Given the description of an element on the screen output the (x, y) to click on. 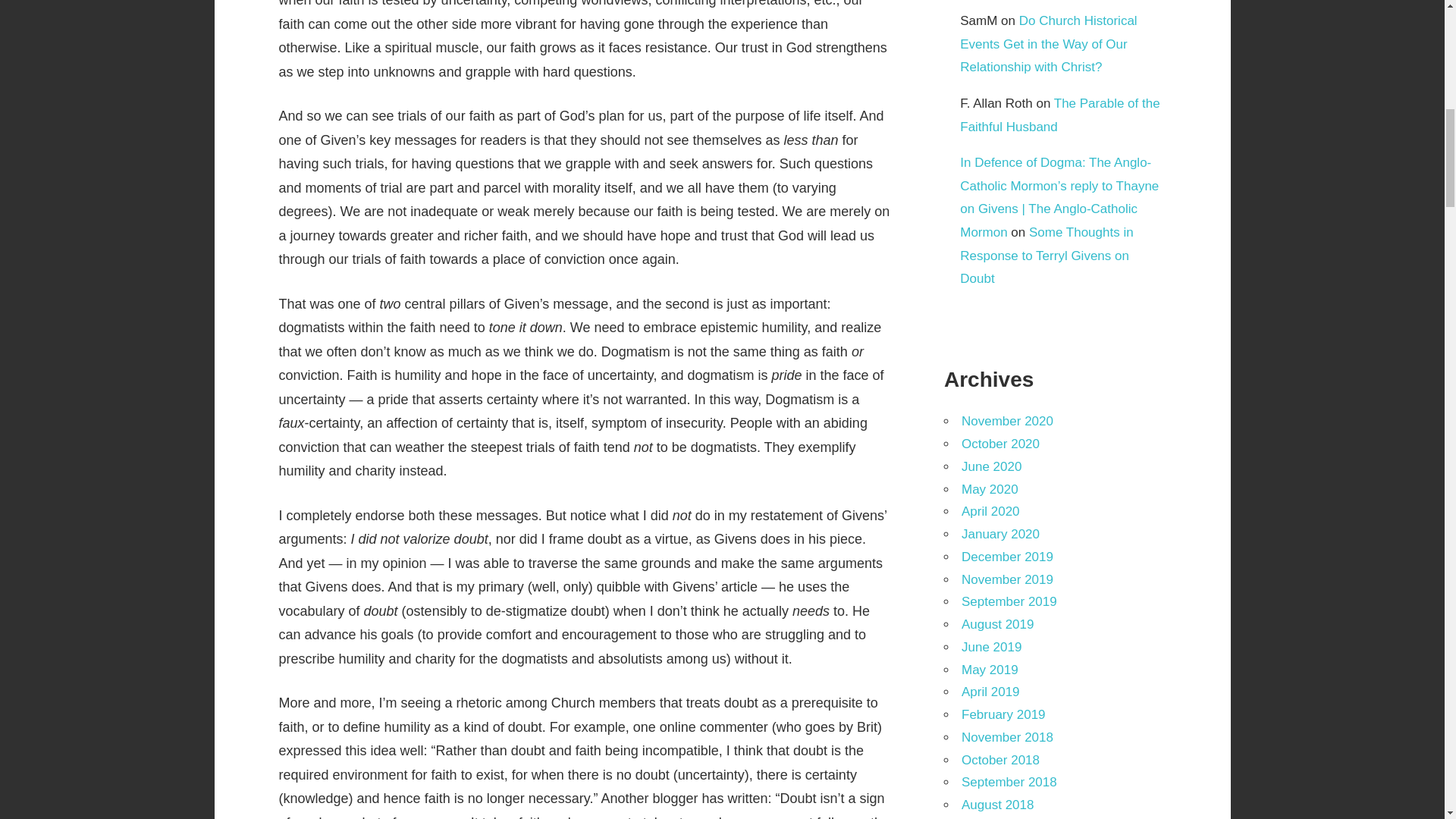
April 2019 (990, 691)
May 2019 (988, 669)
February 2019 (1002, 714)
June 2019 (991, 646)
May 2020 (988, 489)
September 2019 (1008, 601)
April 2020 (990, 511)
November 2018 (1006, 737)
Some Thoughts in Response to Terryl Givens on Doubt (1045, 255)
October 2020 (999, 443)
August 2019 (996, 624)
December 2019 (1006, 556)
January 2020 (999, 534)
June 2020 (991, 466)
